Given the description of an element on the screen output the (x, y) to click on. 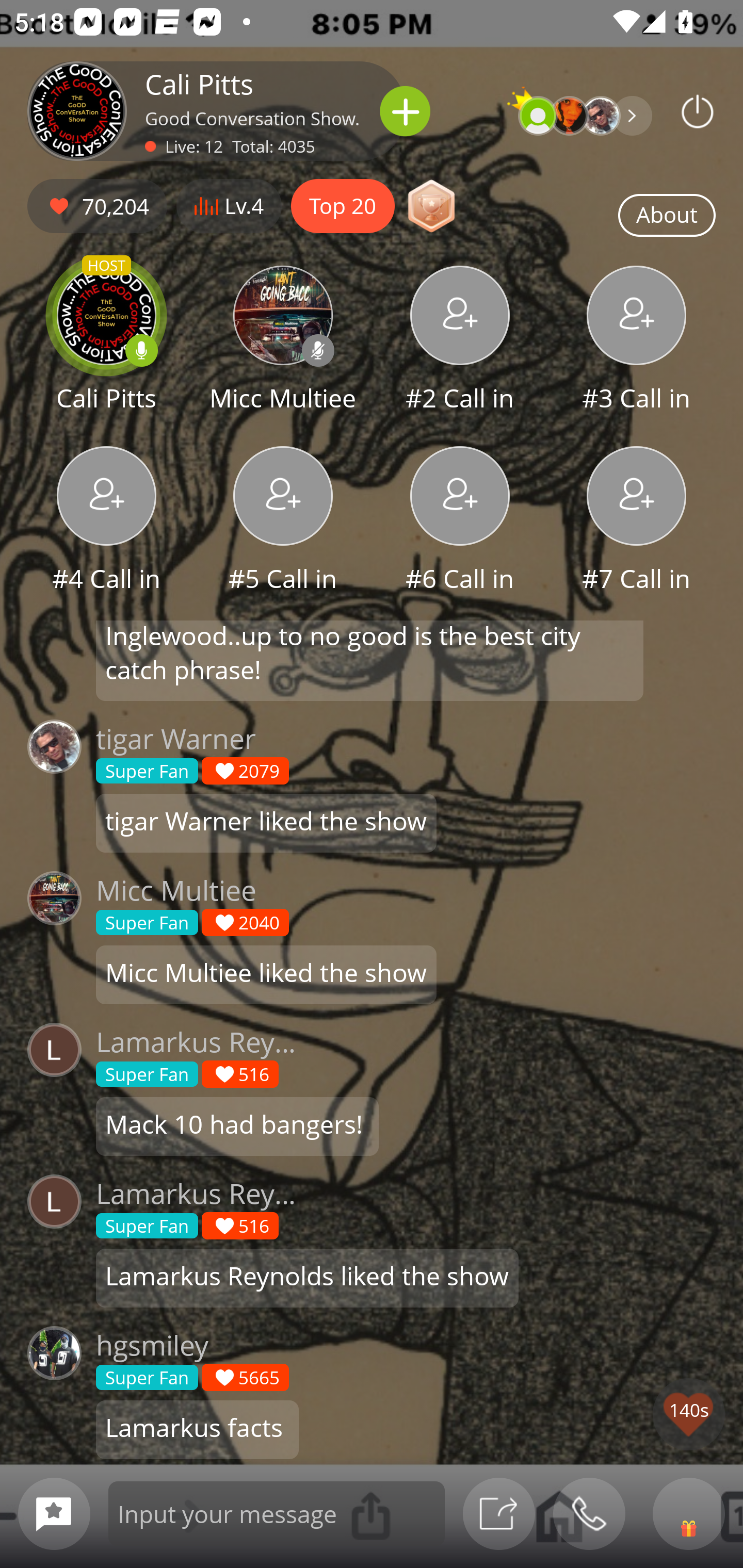
Podbean (697, 111)
About (666, 215)
HOST Cali Pitts (105, 340)
Micc Multiee (282, 340)
#2 Call in (459, 340)
#3 Call in (636, 340)
#4 Call in (105, 521)
#5 Call in (282, 521)
#6 Call in (459, 521)
#7 Call in (636, 521)
Input your message (276, 1513)
